Given the description of an element on the screen output the (x, y) to click on. 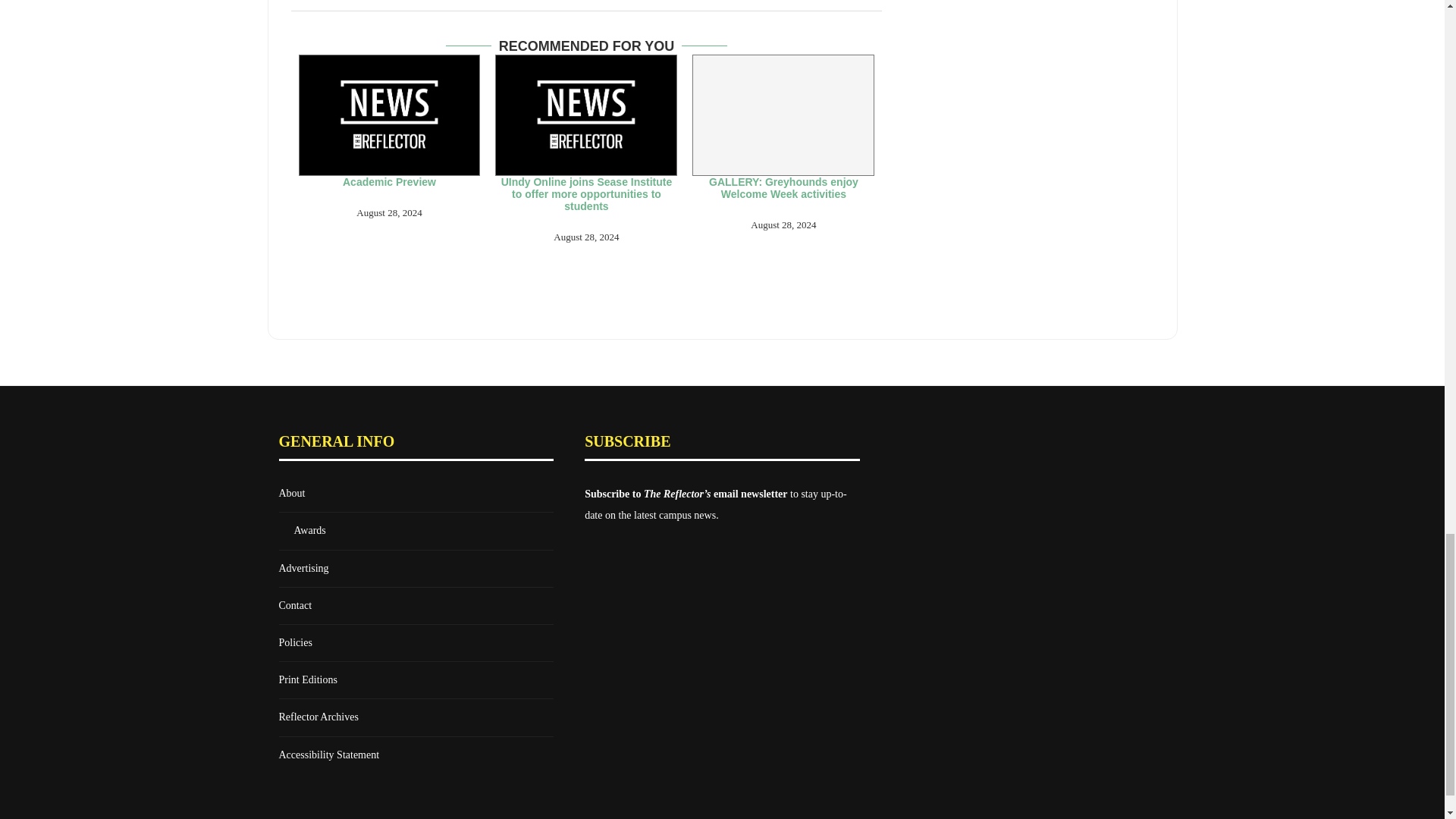
GALLERY: Greyhounds enjoy Welcome Week activities (784, 115)
Academic Preview (389, 115)
